Given the description of an element on the screen output the (x, y) to click on. 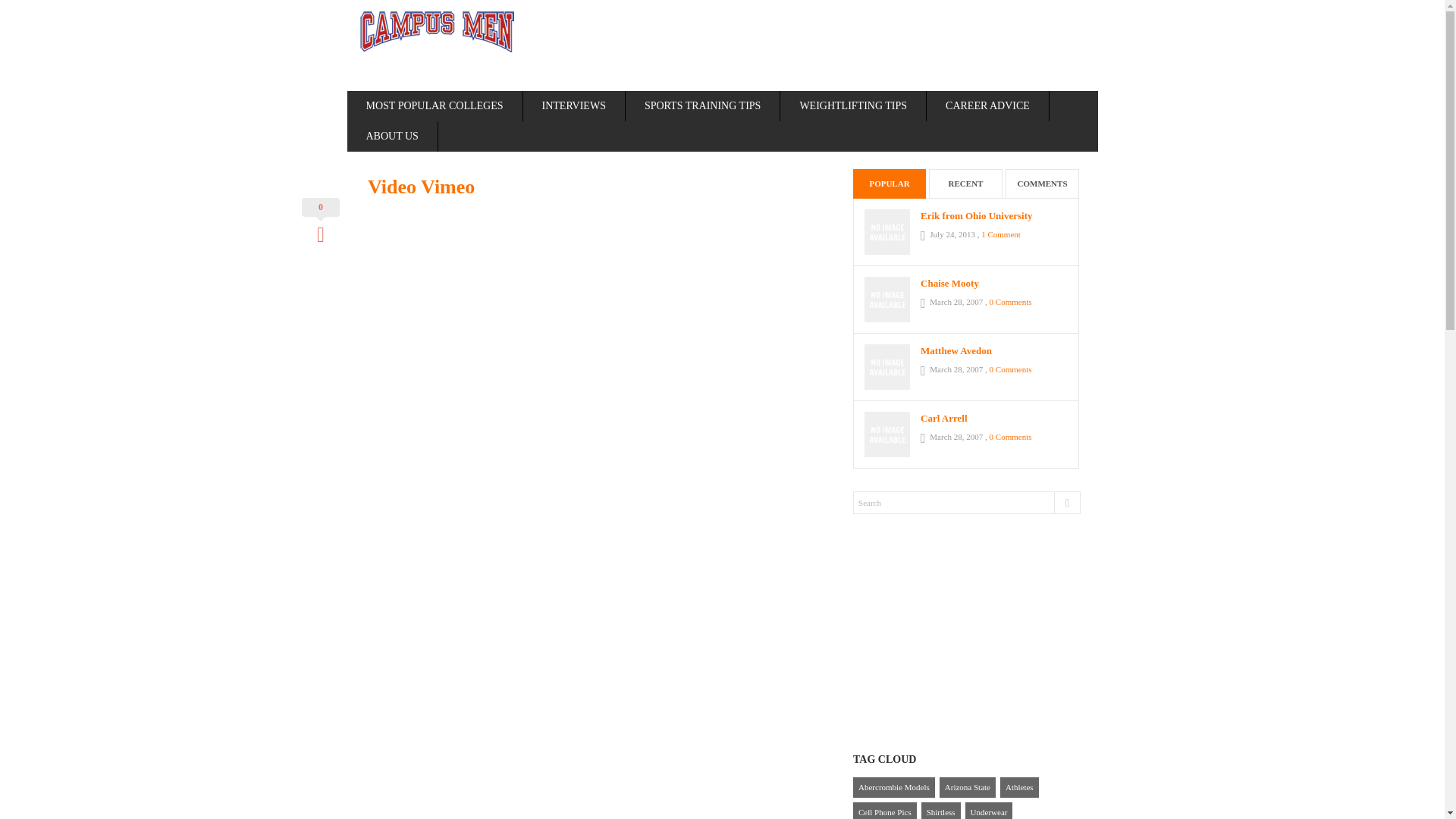
POPULAR (889, 183)
MOST POPULAR COLLEGES (434, 105)
Matthew Avedon (993, 350)
RECENT (965, 183)
Search (966, 502)
Erik from Ohio University (993, 215)
WEIGHTLIFTING TIPS (853, 105)
Carl Arrell (993, 418)
INTERVIEWS (574, 105)
Chaise Mooty (993, 282)
